Given the description of an element on the screen output the (x, y) to click on. 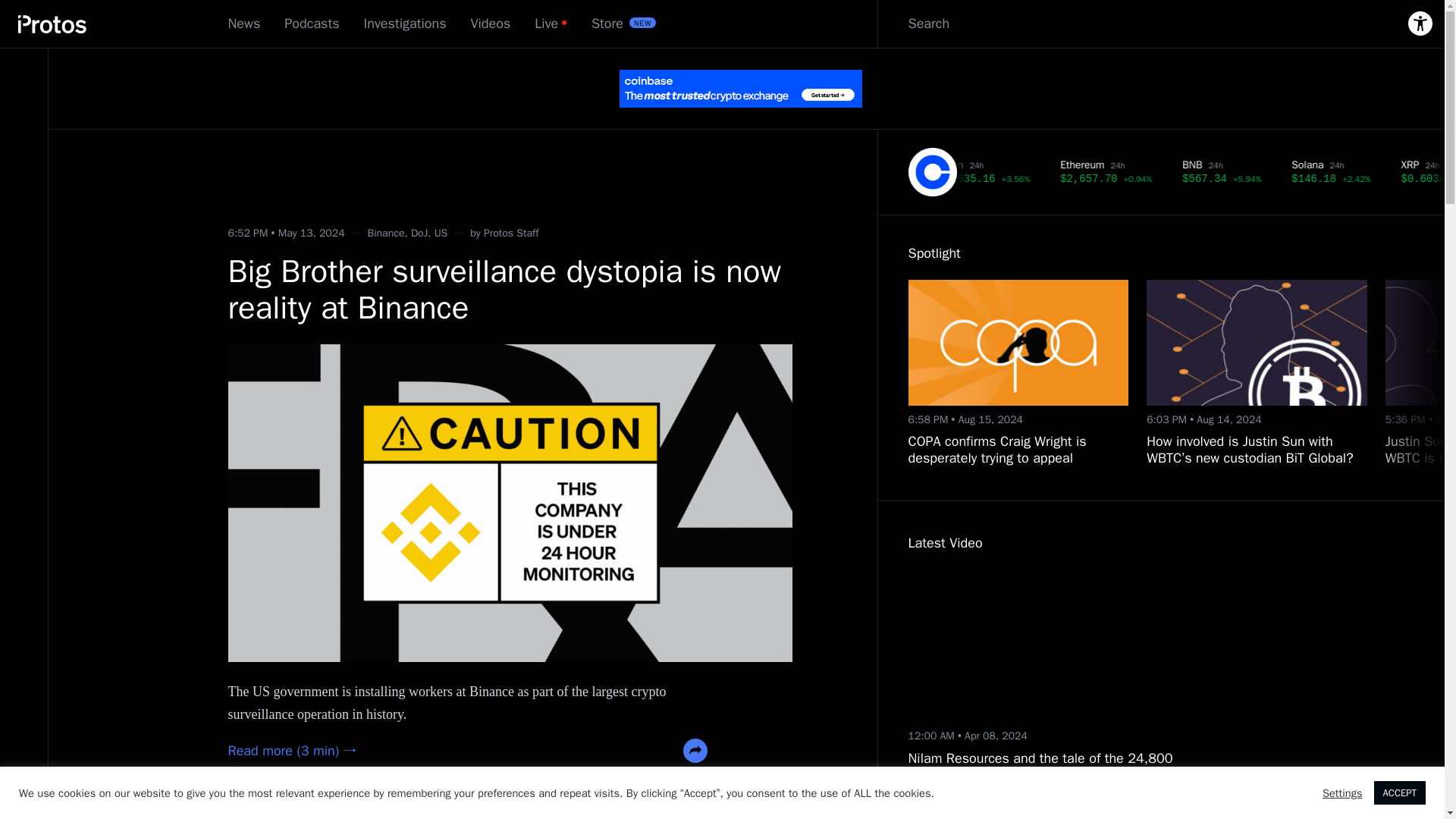
Protos Staff (510, 233)
Podcasts (311, 23)
Investigations (405, 23)
Binance (386, 233)
